Given the description of an element on the screen output the (x, y) to click on. 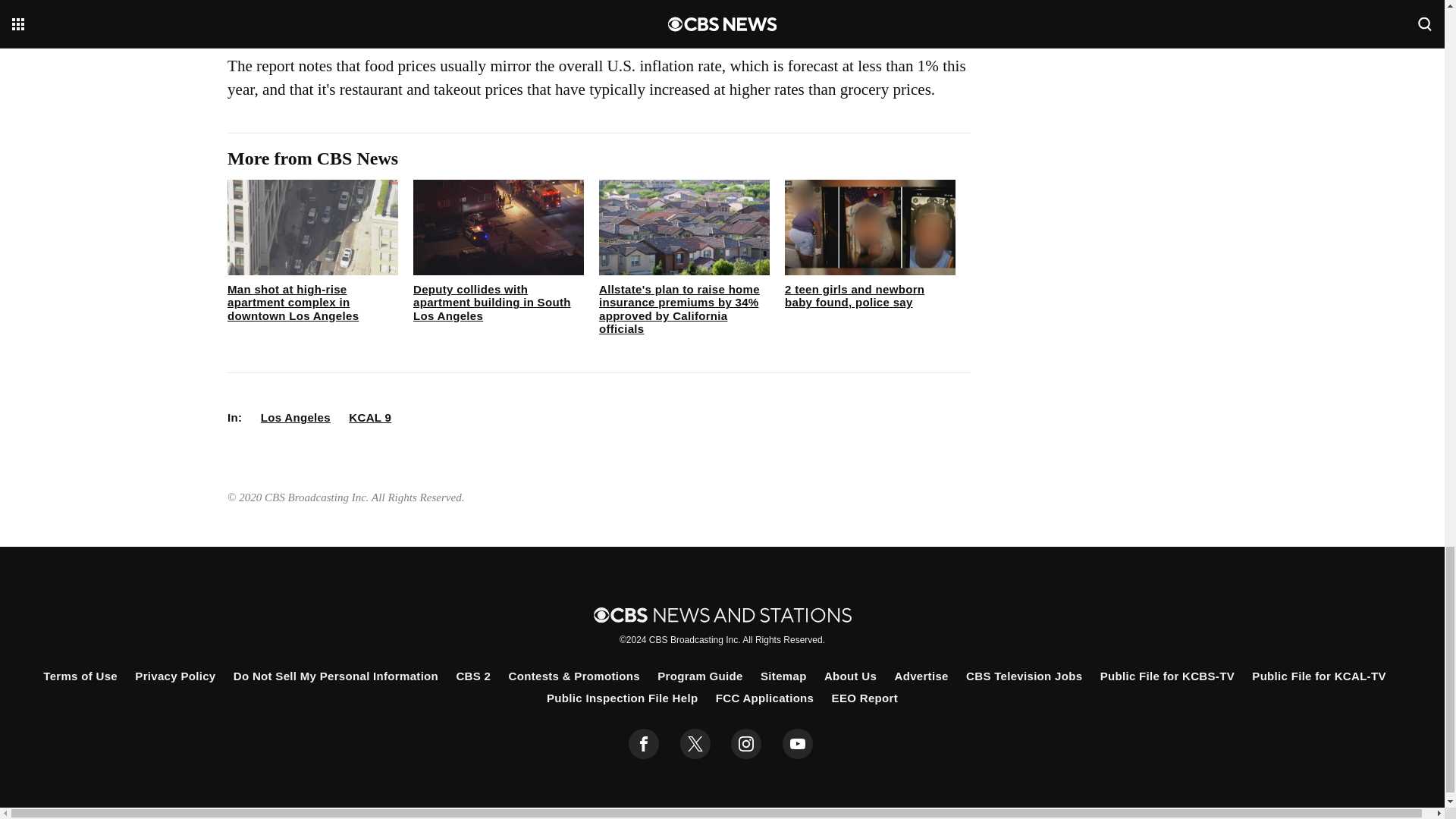
instagram (745, 743)
facebook (643, 743)
youtube (797, 743)
twitter (694, 743)
